Given the description of an element on the screen output the (x, y) to click on. 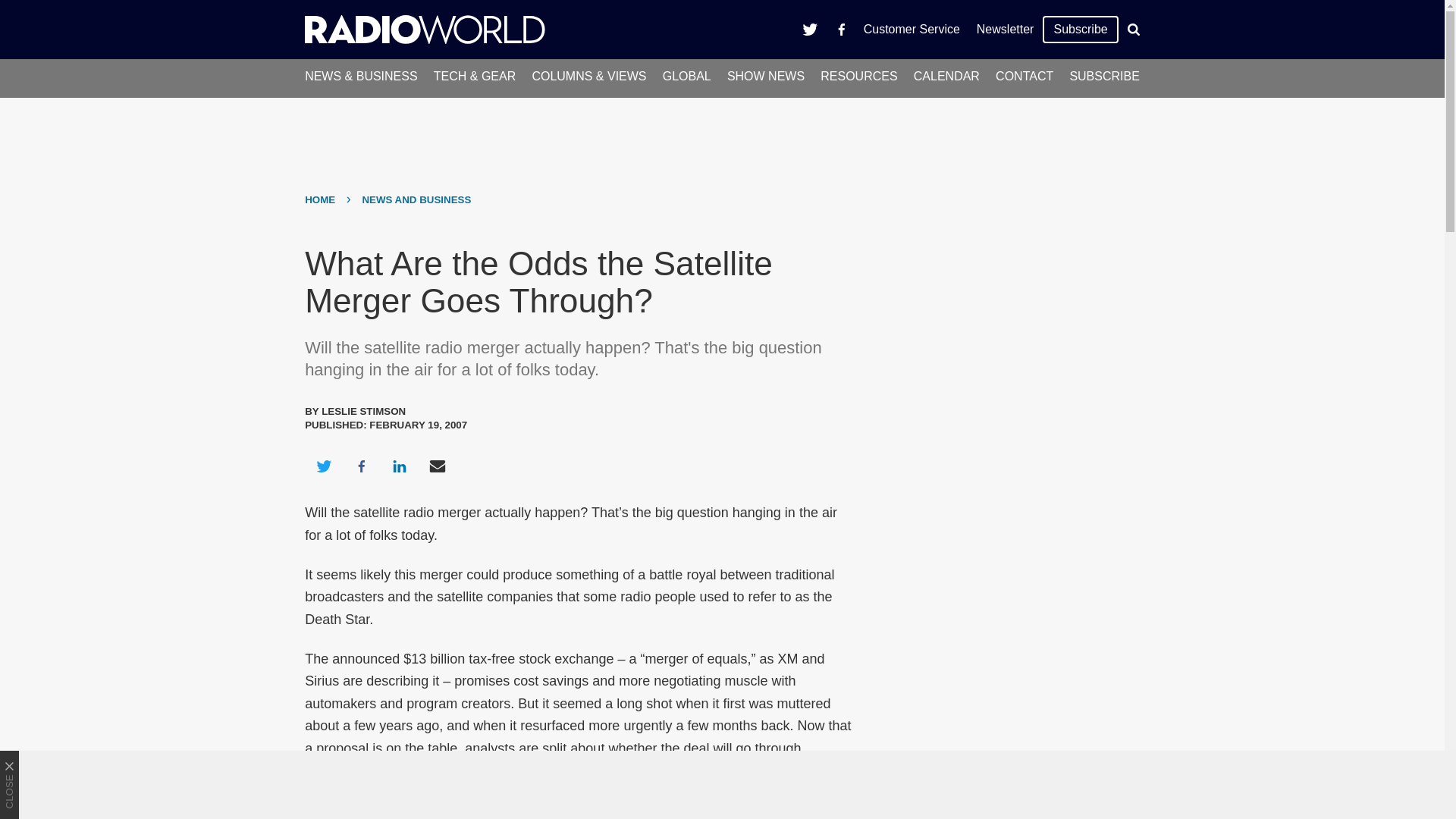
Share on Twitter (323, 466)
Customer Service (912, 29)
Share via Email (438, 466)
Share on Facebook (361, 466)
Share on LinkedIn (399, 466)
